Given the description of an element on the screen output the (x, y) to click on. 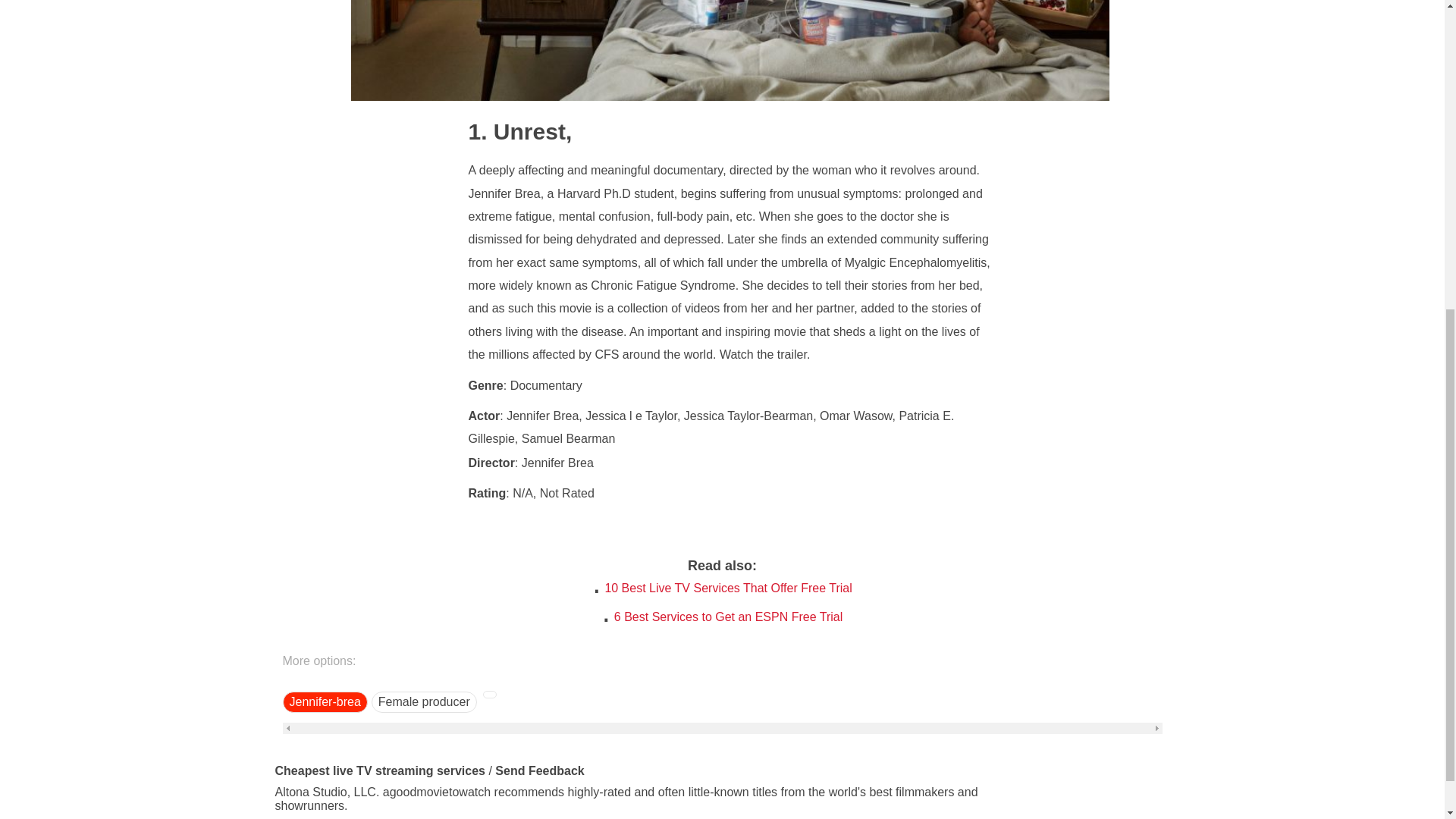
Unrest (517, 131)
Unrest (729, 96)
